Given the description of an element on the screen output the (x, y) to click on. 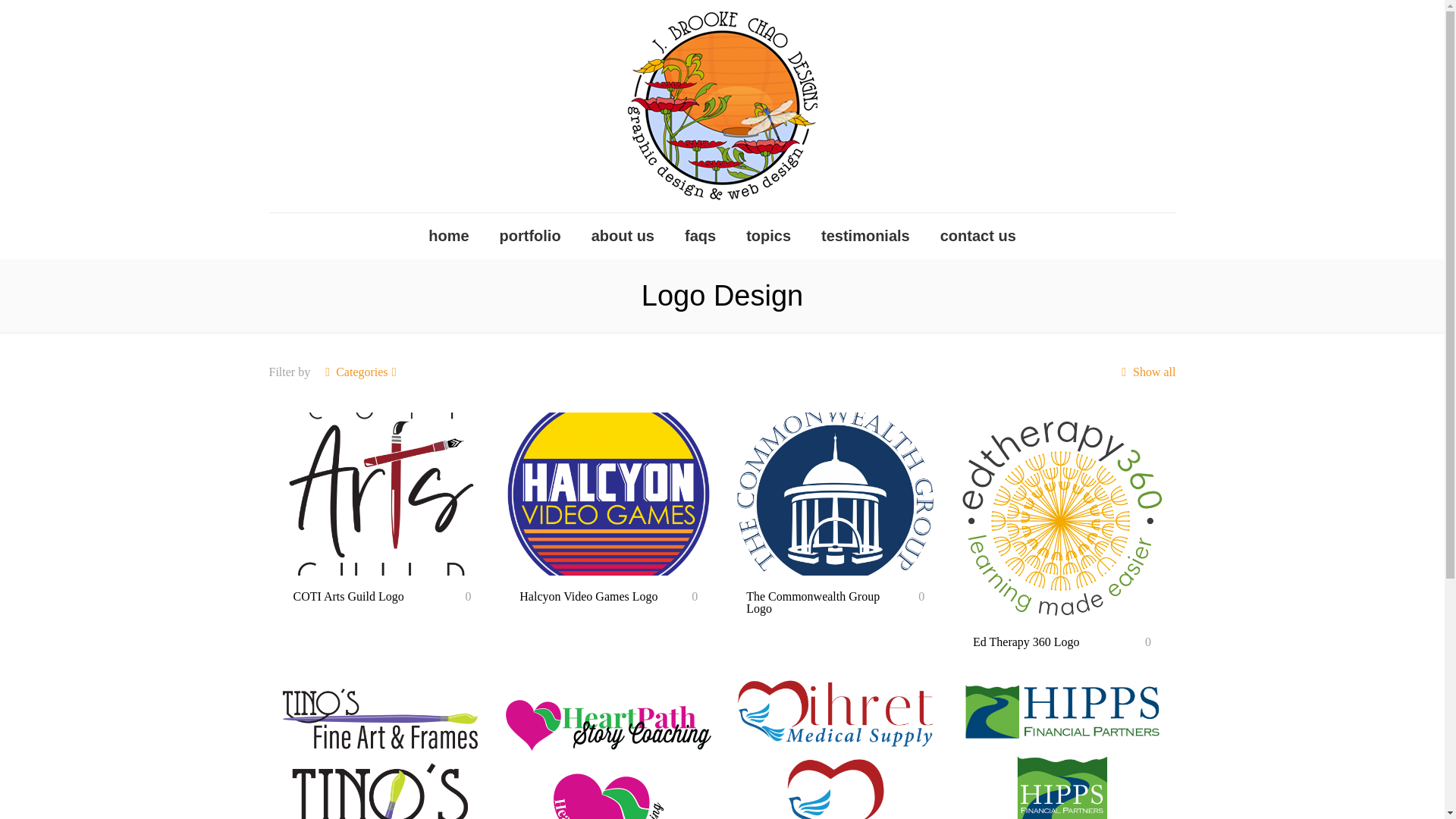
COTI Arts Guild Logo (347, 595)
faqs (699, 235)
topics (768, 235)
J. Brooke Chao Designs (721, 106)
about us (622, 235)
Categories (361, 371)
Halcyon Video Games Logo (588, 595)
testimonials (865, 235)
home (448, 235)
Show all (1146, 371)
